Given the description of an element on the screen output the (x, y) to click on. 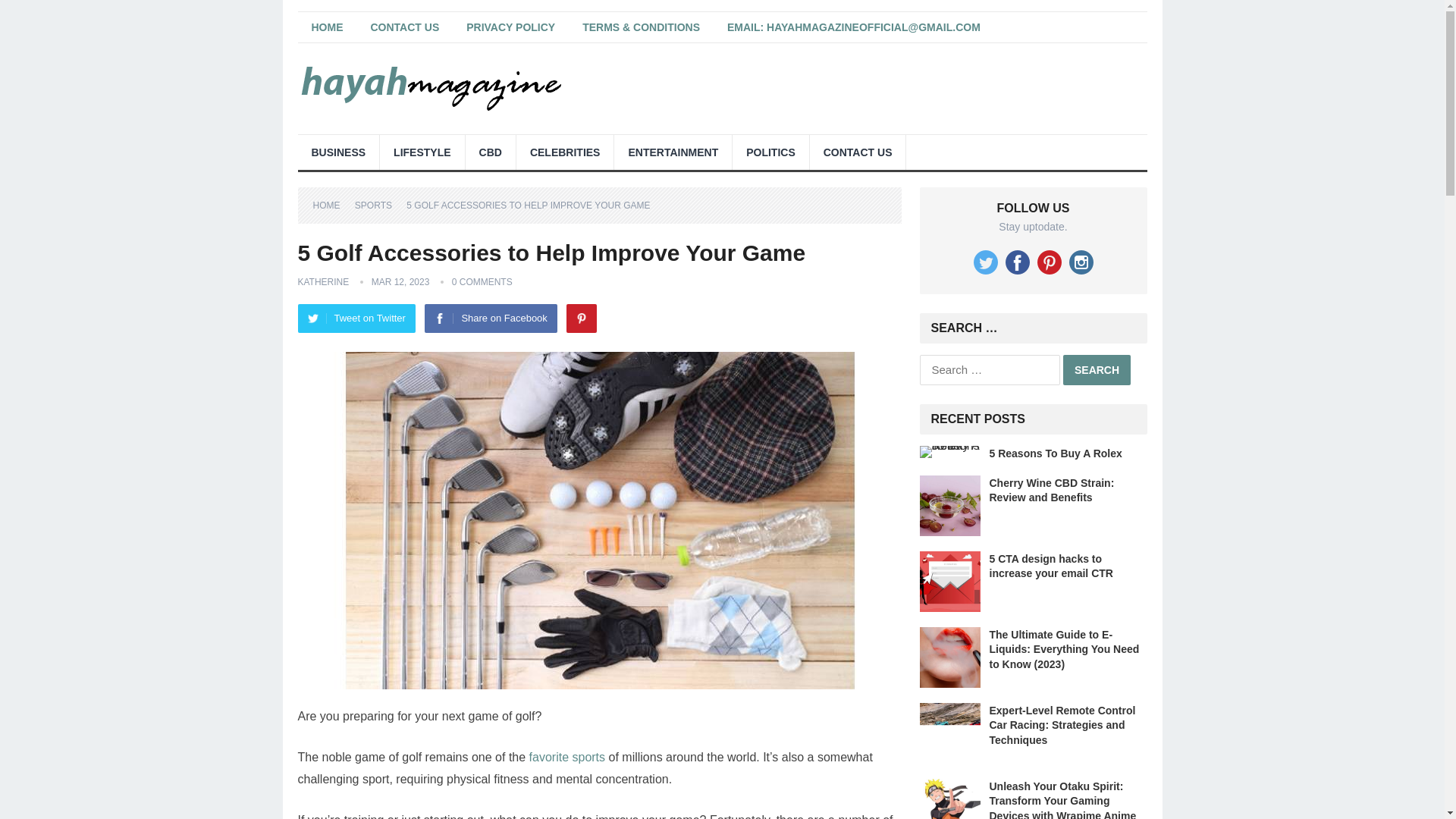
ENTERTAINMENT (673, 152)
Search (1096, 369)
View all posts in Sports (379, 204)
CELEBRITIES (565, 152)
HOME (326, 27)
CONTACT US (857, 152)
Search (1096, 369)
PRIVACY POLICY (510, 27)
LIFESTYLE (422, 152)
POLITICS (770, 152)
